Given the description of an element on the screen output the (x, y) to click on. 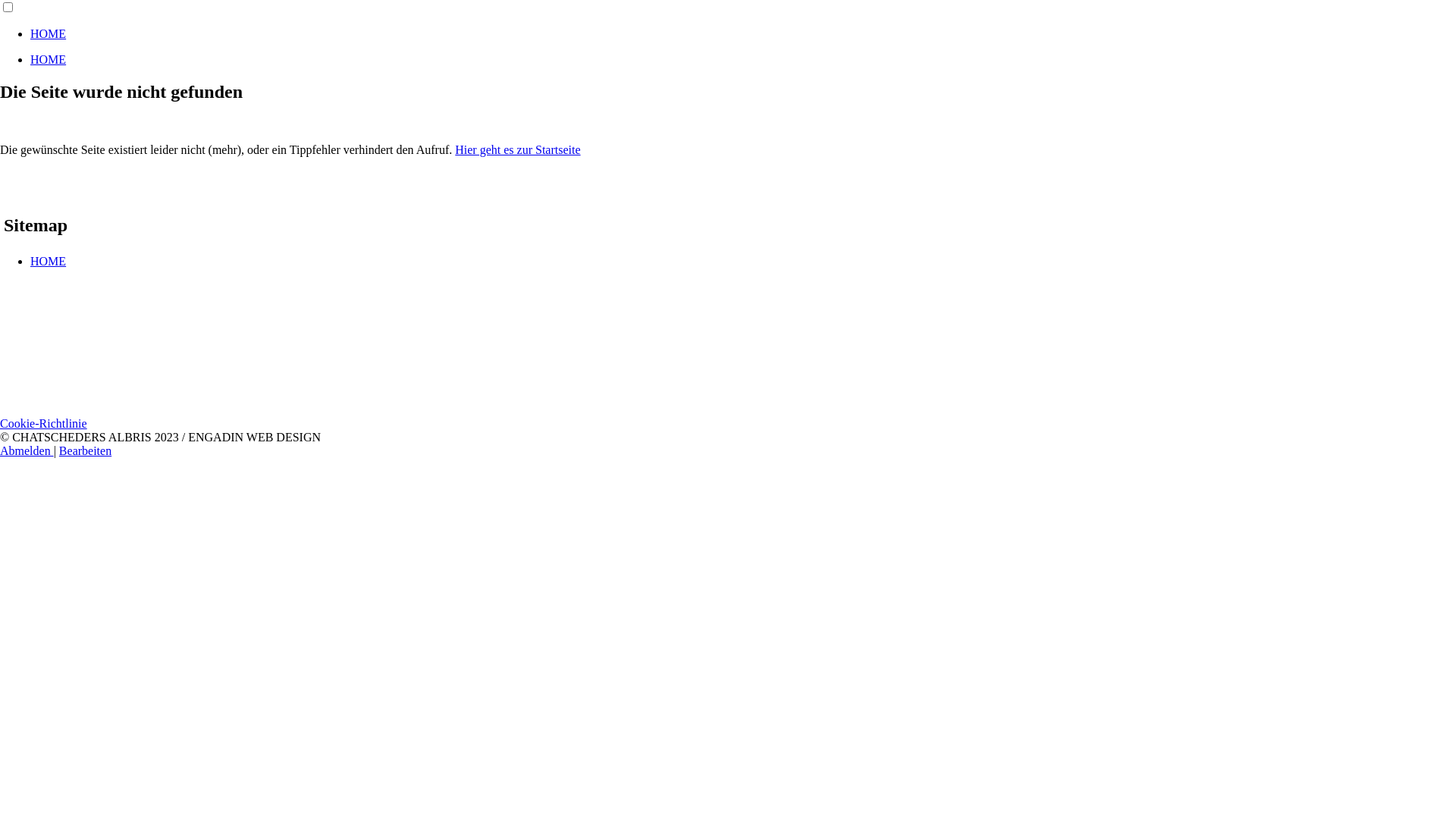
HOME Element type: text (47, 59)
Cookie-Richtlinie Element type: text (43, 423)
Abmelden Element type: text (26, 450)
Hier geht es zur Startseite Element type: text (517, 149)
Bearbeiten Element type: text (85, 450)
HOME Element type: text (47, 260)
HOME Element type: text (47, 33)
